Given the description of an element on the screen output the (x, y) to click on. 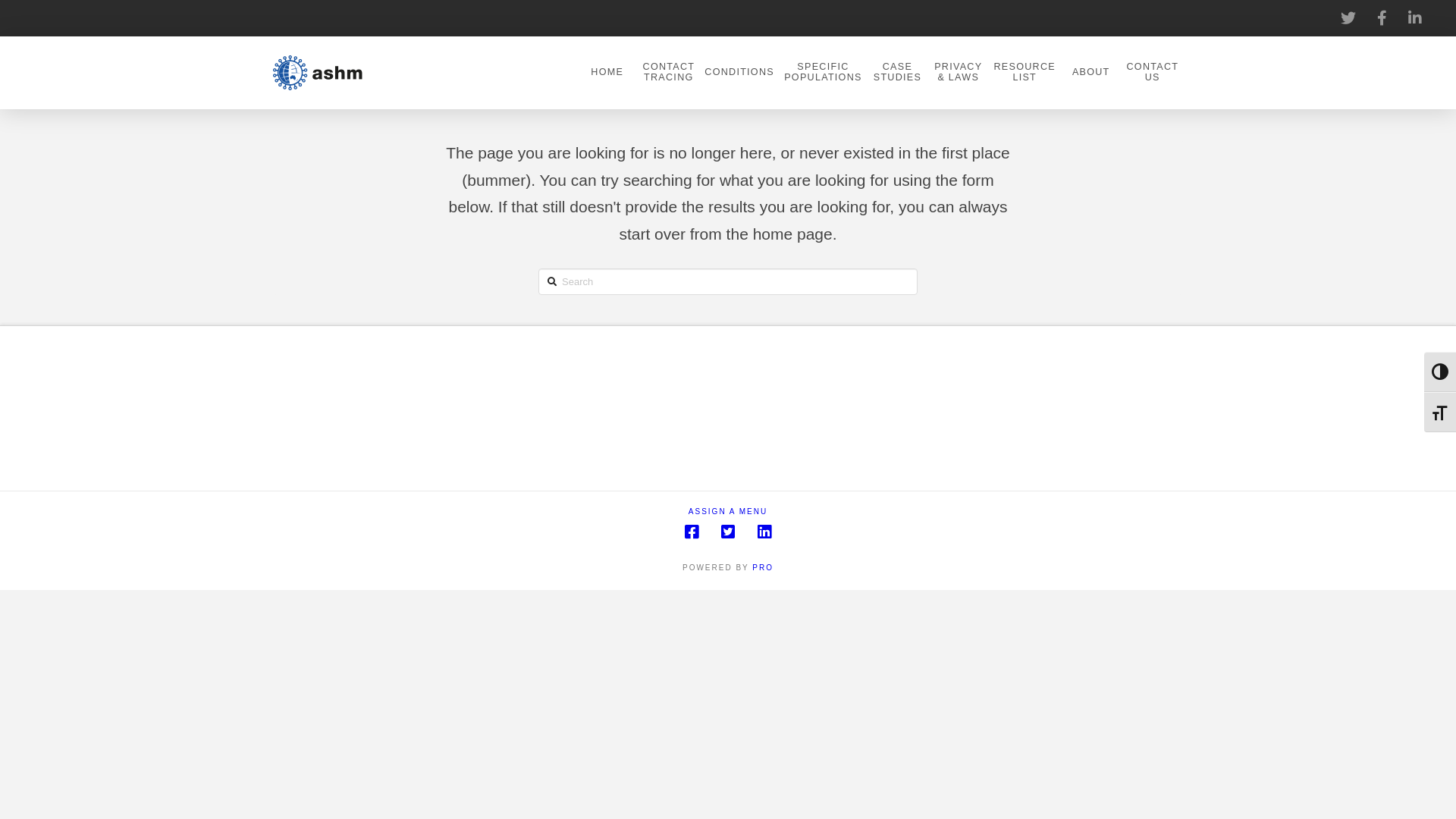
CASE STUDIES Element type: text (896, 72)
CONTACT US Element type: text (1151, 72)
ABOUT Element type: text (1090, 72)
ASSIGN A MENU Element type: text (727, 511)
CONDITIONS Element type: text (738, 72)
RESOURCE LIST Element type: text (1024, 72)
SPECIFIC POPULATIONS Element type: text (822, 72)
PRO Element type: text (762, 567)
Facebook Element type: hover (691, 531)
HOME Element type: text (606, 72)
CONTACT TRACING Element type: text (668, 72)
PRIVACY & LAWS Element type: text (957, 72)
Twitter Element type: hover (727, 531)
LinkedIn Element type: hover (764, 531)
